Given the description of an element on the screen output the (x, y) to click on. 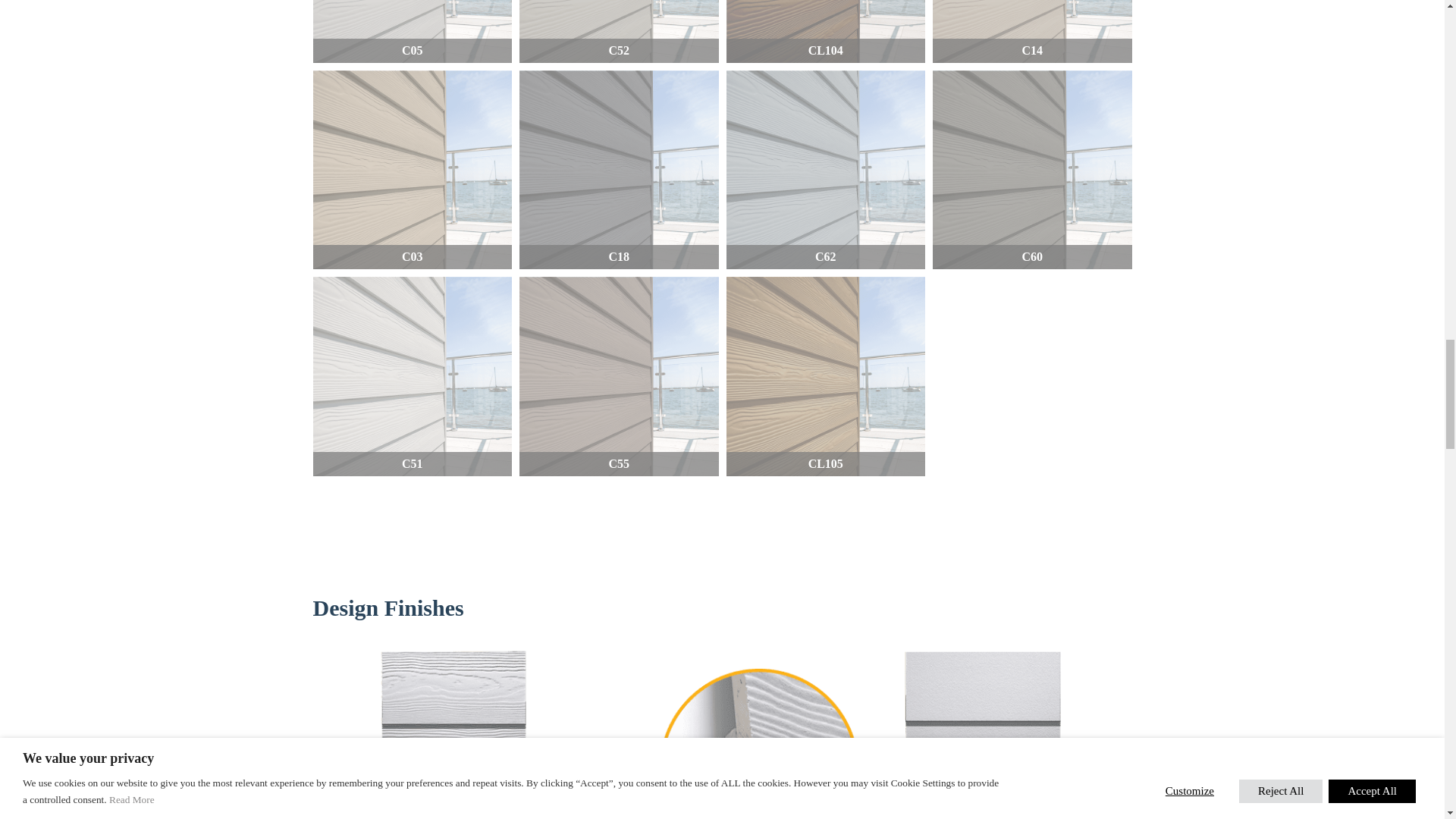
CL105 (826, 375)
C55 (619, 375)
C05 (412, 31)
CL104 (826, 31)
C51 (412, 375)
C03 (412, 170)
C62 (826, 170)
C18 (619, 170)
C52 (619, 31)
C14 (1032, 31)
